Given the description of an element on the screen output the (x, y) to click on. 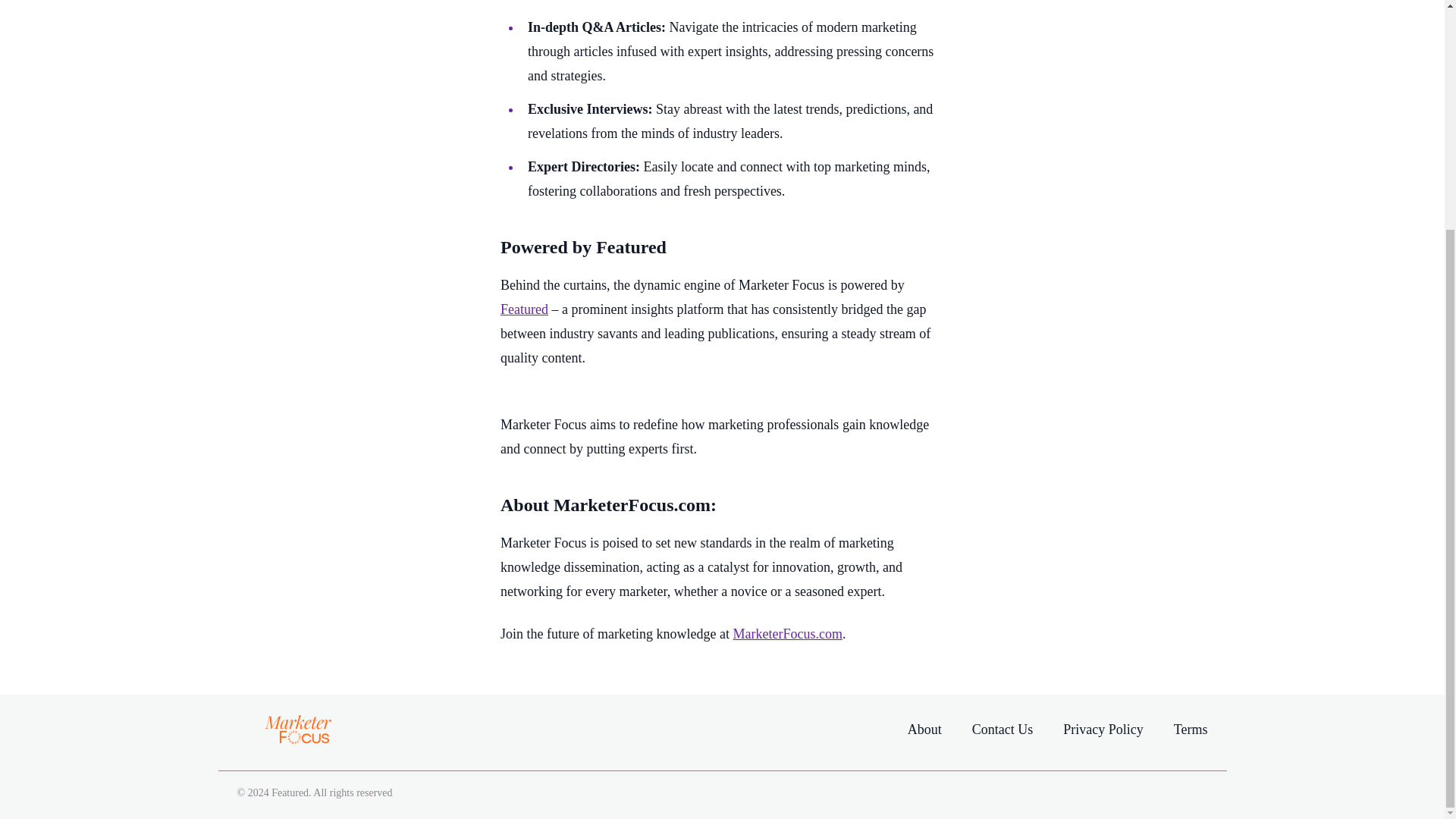
Featured (524, 309)
About (924, 729)
Contact Us (1002, 729)
MarketerFocus.com (786, 633)
Terms (1190, 729)
Privacy Policy (1102, 729)
